Given the description of an element on the screen output the (x, y) to click on. 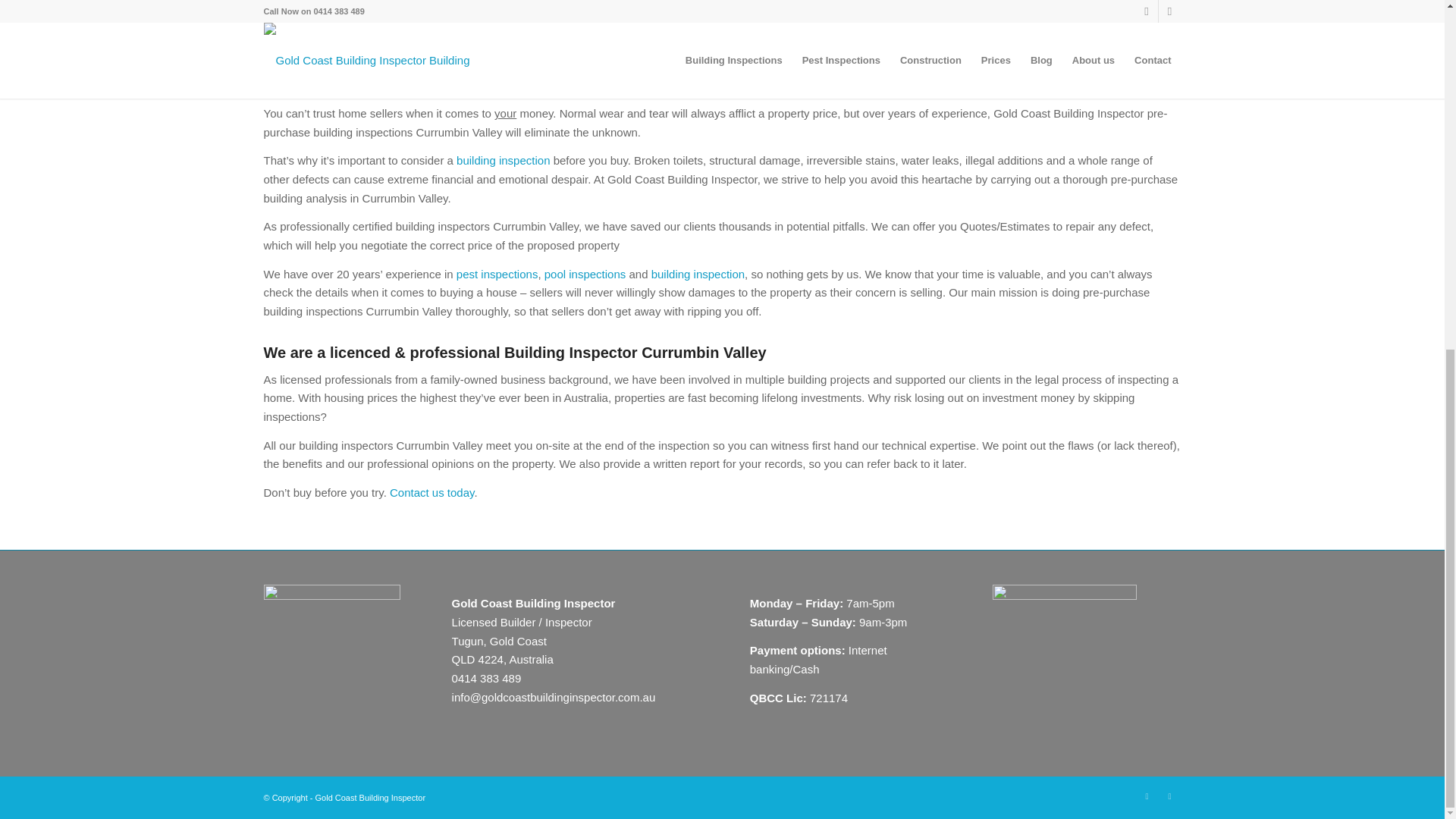
pest inspections (497, 273)
building inspection (697, 273)
Instagram (1146, 795)
Rss (1169, 795)
0414 383 489 (486, 677)
building inspection (503, 160)
Contact us today (432, 492)
pool inspections (585, 273)
